Given the description of an element on the screen output the (x, y) to click on. 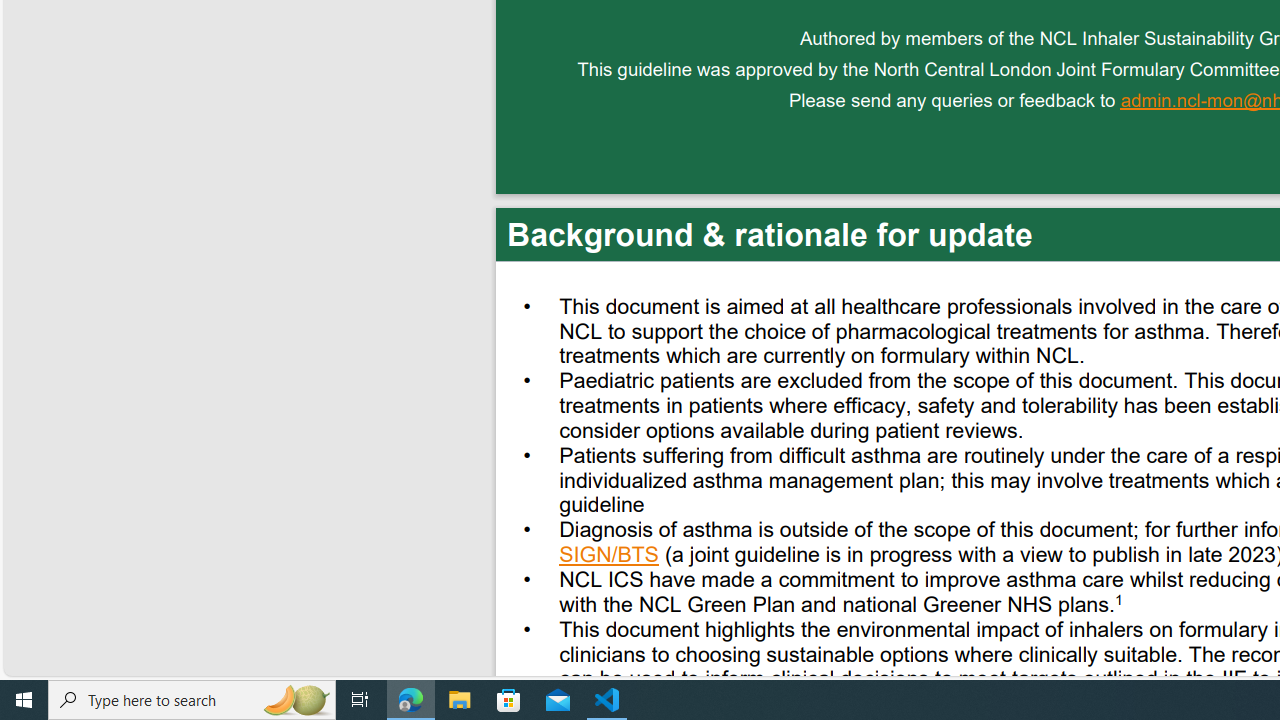
SIGN/BTS (609, 557)
